Given the description of an element on the screen output the (x, y) to click on. 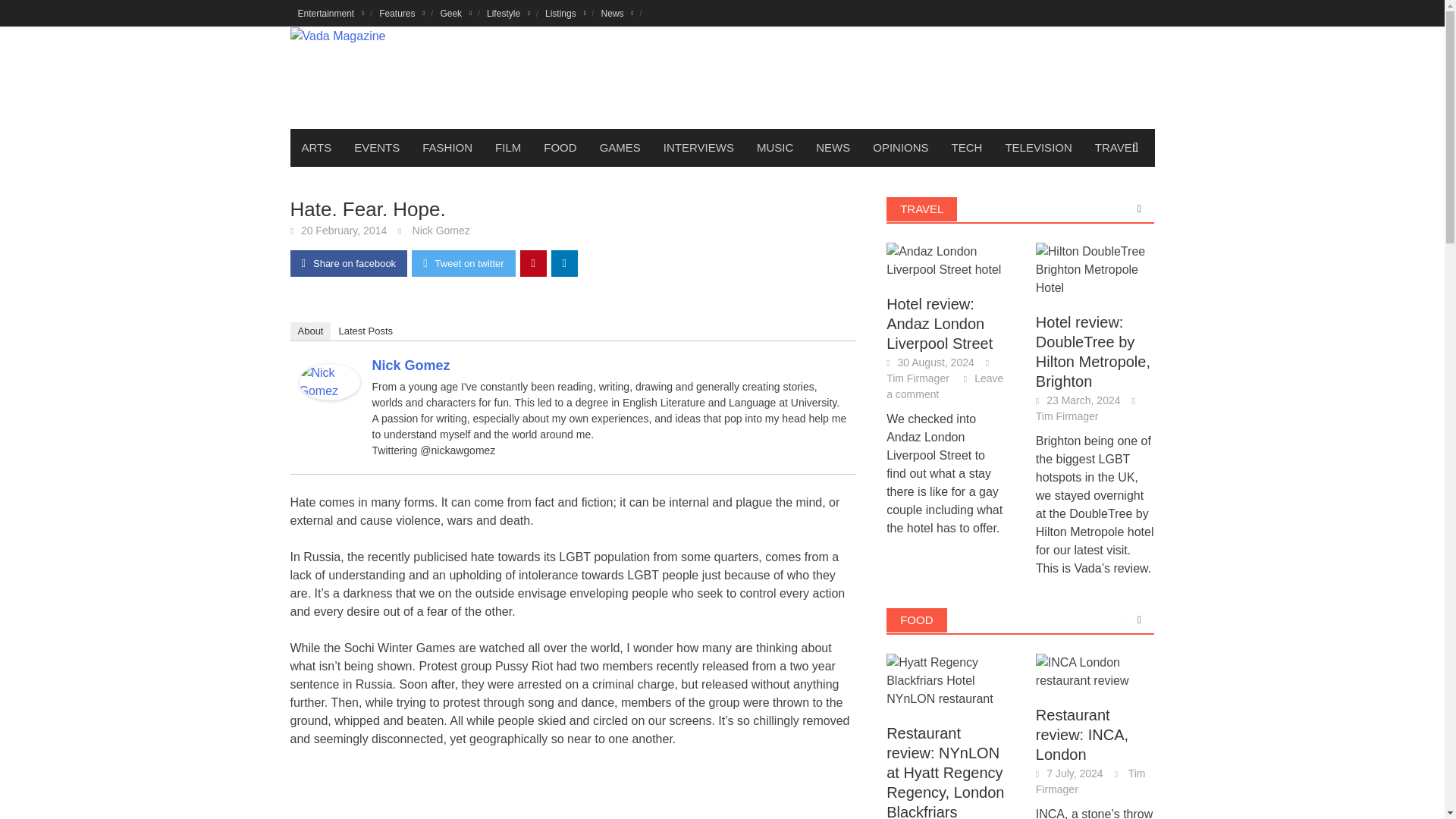
NEWS (833, 147)
Nick Gomez (328, 380)
Geek (455, 13)
INTERVIEWS (698, 147)
Hotel review: Andaz London Liverpool Street (946, 260)
Listings (565, 13)
EVENTS (376, 147)
OPINIONS (900, 147)
Hotel review: DoubleTree by Hilton Metropole, Brighton (1094, 269)
